Given the description of an element on the screen output the (x, y) to click on. 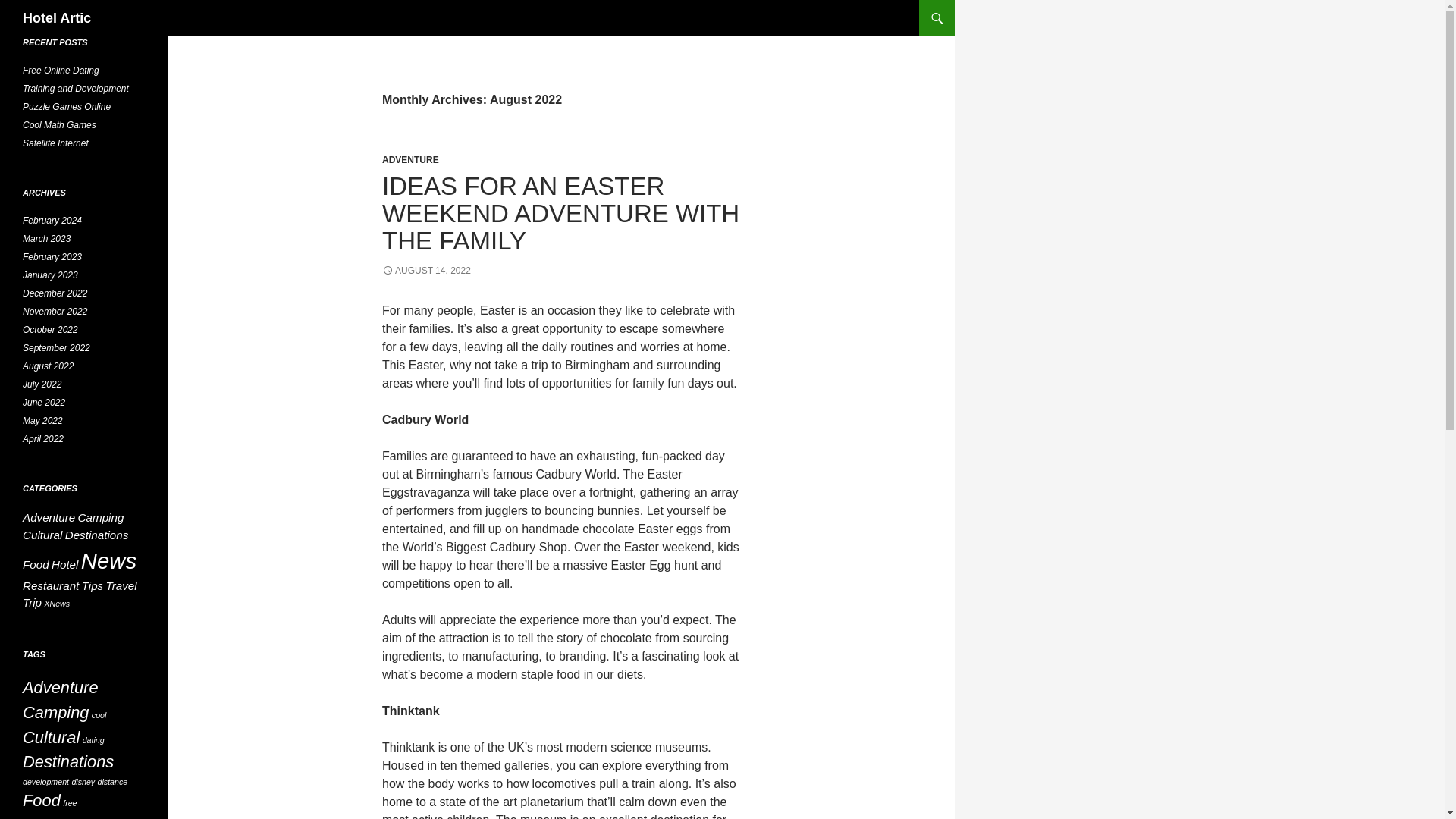
Adventure (49, 517)
July 2022 (42, 384)
IDEAS FOR AN EASTER WEEKEND ADVENTURE WITH THE FAMILY (560, 212)
Training and Development (76, 88)
Travel (121, 585)
Cultural (42, 534)
September 2022 (56, 347)
May 2022 (42, 420)
December 2022 (55, 293)
February 2023 (52, 256)
News (108, 560)
Camping (100, 517)
AUGUST 14, 2022 (425, 270)
February 2024 (52, 220)
